Given the description of an element on the screen output the (x, y) to click on. 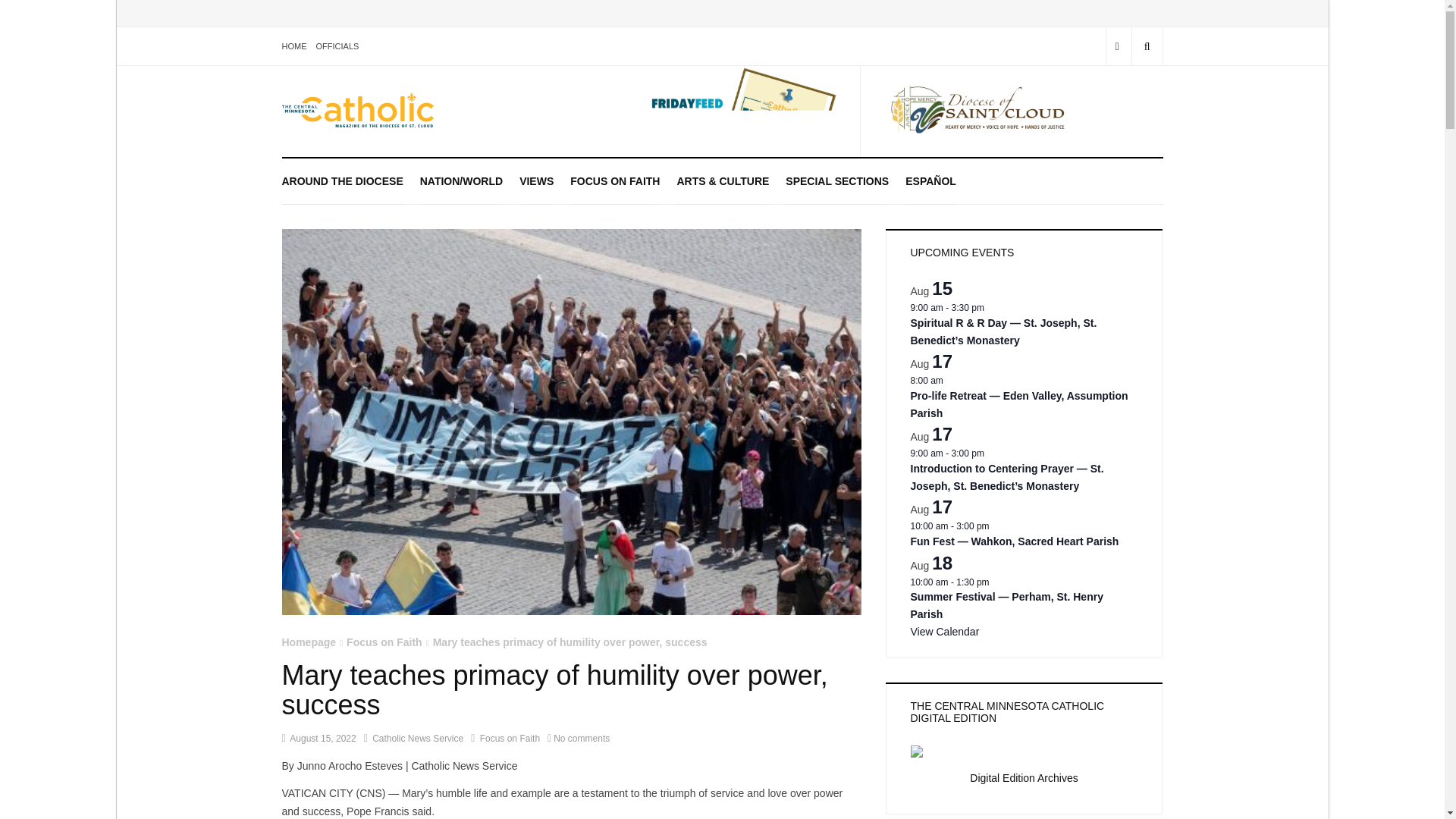
AROUND THE DIOCESE (342, 180)
Homepage (309, 642)
OFFICIALS (336, 46)
Mary teaches primacy of humility over power, success (569, 642)
View more events. (944, 631)
